Given the description of an element on the screen output the (x, y) to click on. 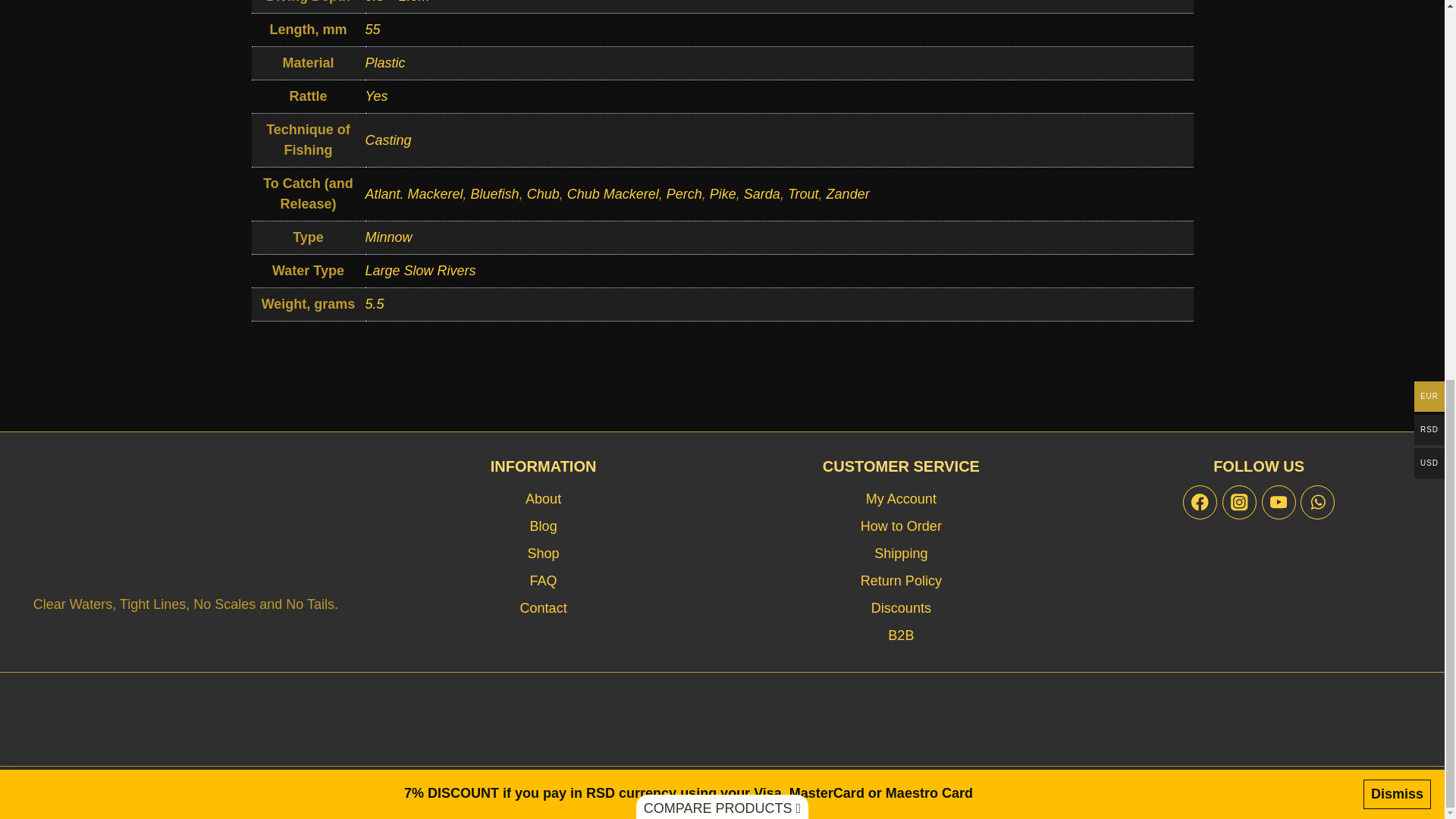
55 (372, 29)
Bluefish (494, 193)
Chub Mackerel (613, 193)
Atlant. Mackerel (414, 193)
Casting (388, 140)
Chub (543, 193)
Yes (376, 96)
Plastic (385, 62)
